Given the description of an element on the screen output the (x, y) to click on. 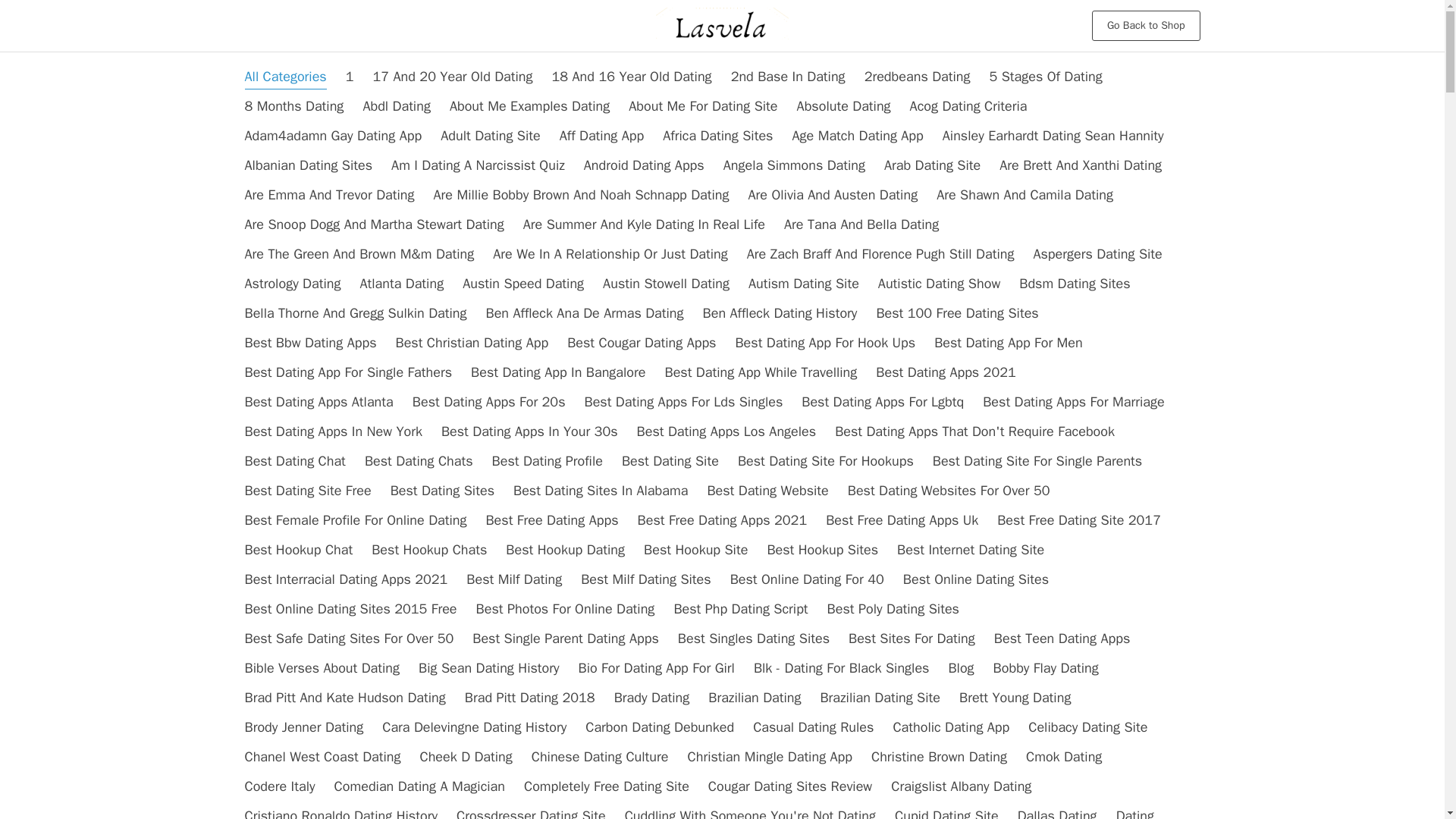
Abdl Dating (396, 106)
Absolute Dating (843, 106)
Aspergers Dating Site (1096, 253)
Aff Dating App (601, 135)
Are Snoop Dogg And Martha Stewart Dating (373, 224)
Adam4adamn Gay Dating App (333, 135)
Are We In A Relationship Or Just Dating (610, 253)
Acog Dating Criteria (968, 106)
Albanian Dating Sites (308, 165)
1 (349, 76)
Adult Dating Site (490, 135)
About Me Examples Dating (529, 106)
About Me For Dating Site (702, 106)
Are Millie Bobby Brown And Noah Schnapp Dating (581, 194)
Are Zach Braff And Florence Pugh Still Dating (880, 253)
